Given the description of an element on the screen output the (x, y) to click on. 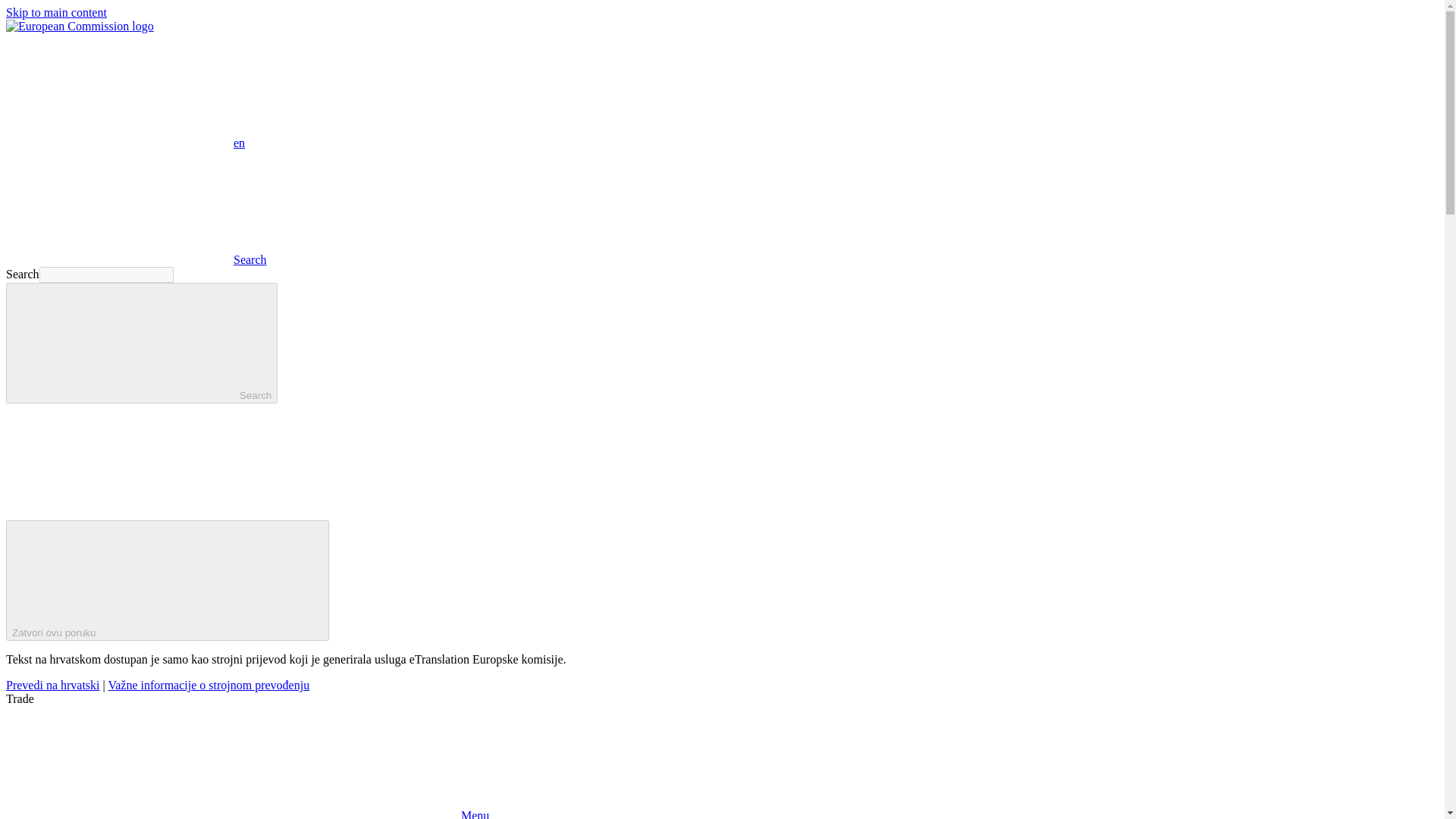
Search (135, 259)
Skip to main content (55, 11)
Menu (247, 814)
European Commission (79, 25)
Zatvori ovu poruku (167, 580)
enen (124, 142)
Prevedi na hrvatski (52, 684)
en (118, 90)
Search (141, 342)
